Given the description of an element on the screen output the (x, y) to click on. 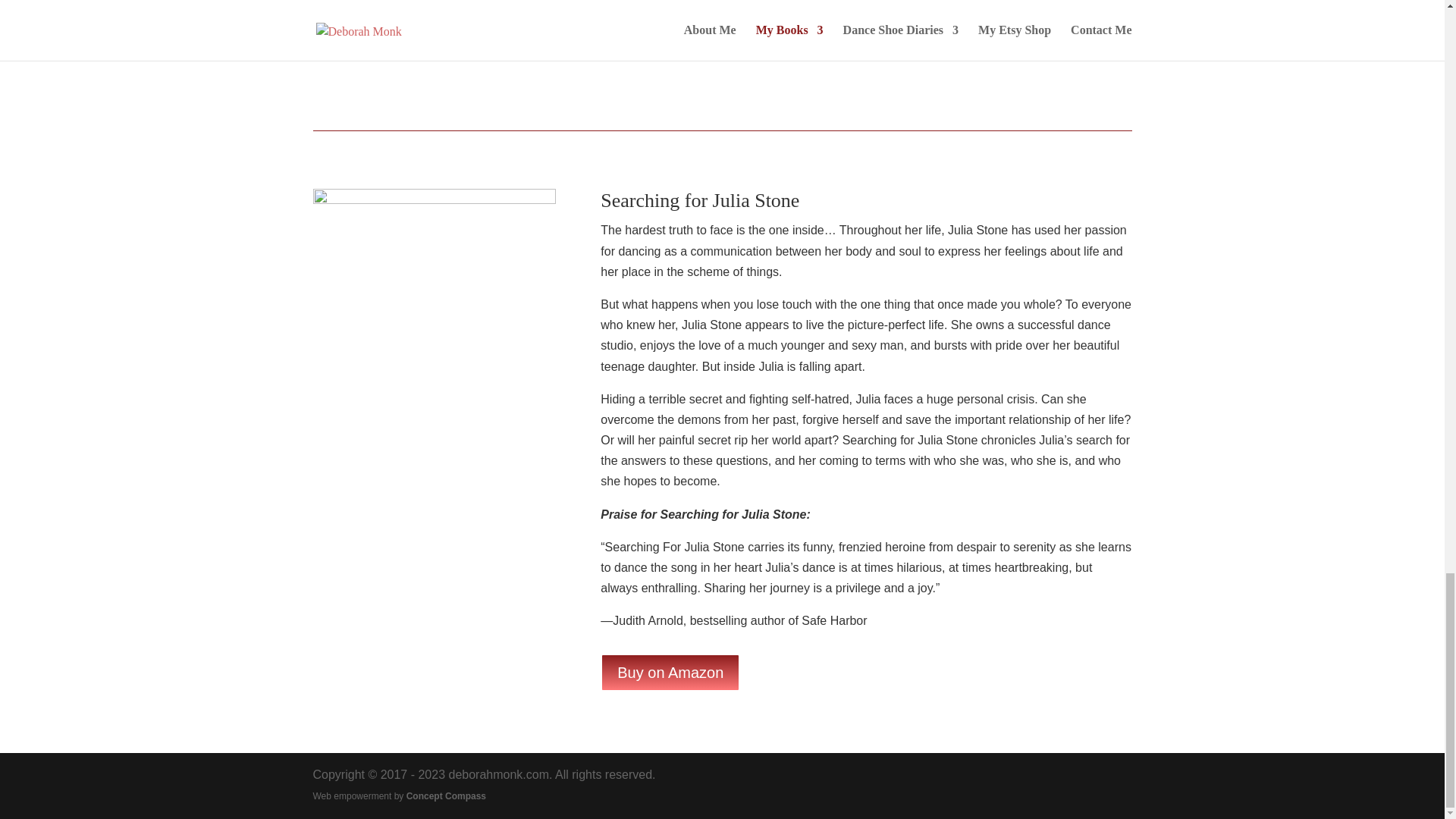
Concept Compass (446, 794)
Buy on Amazon (669, 672)
